Given the description of an element on the screen output the (x, y) to click on. 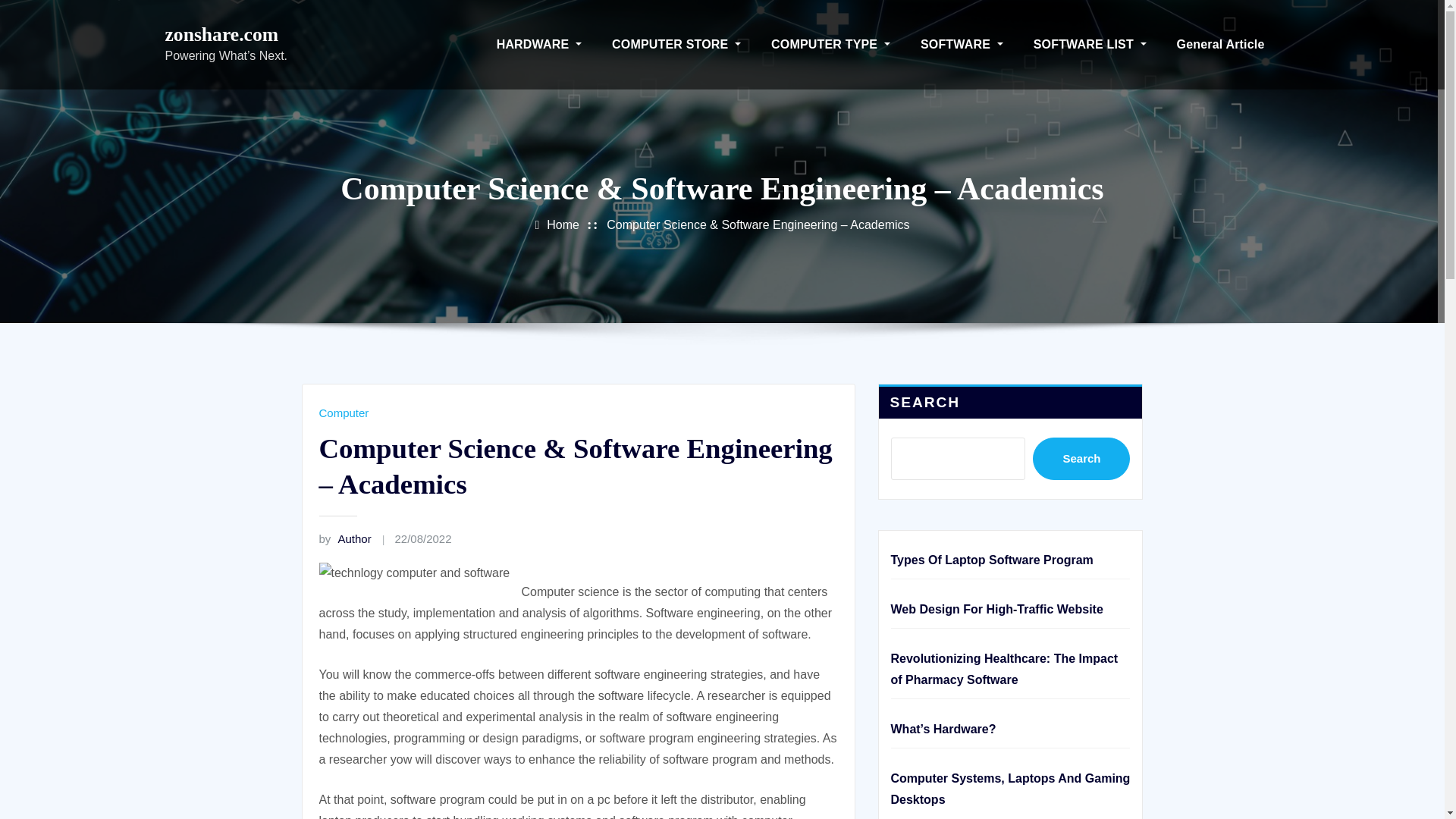
Computer (343, 412)
COMPUTER STORE (675, 44)
HARDWARE (538, 44)
SOFTWARE LIST (1089, 44)
Home (563, 224)
by Author (344, 538)
zonshare.com (222, 34)
Search (1080, 458)
SOFTWARE (961, 44)
General Article (1220, 44)
COMPUTER TYPE (830, 44)
